Given the description of an element on the screen output the (x, y) to click on. 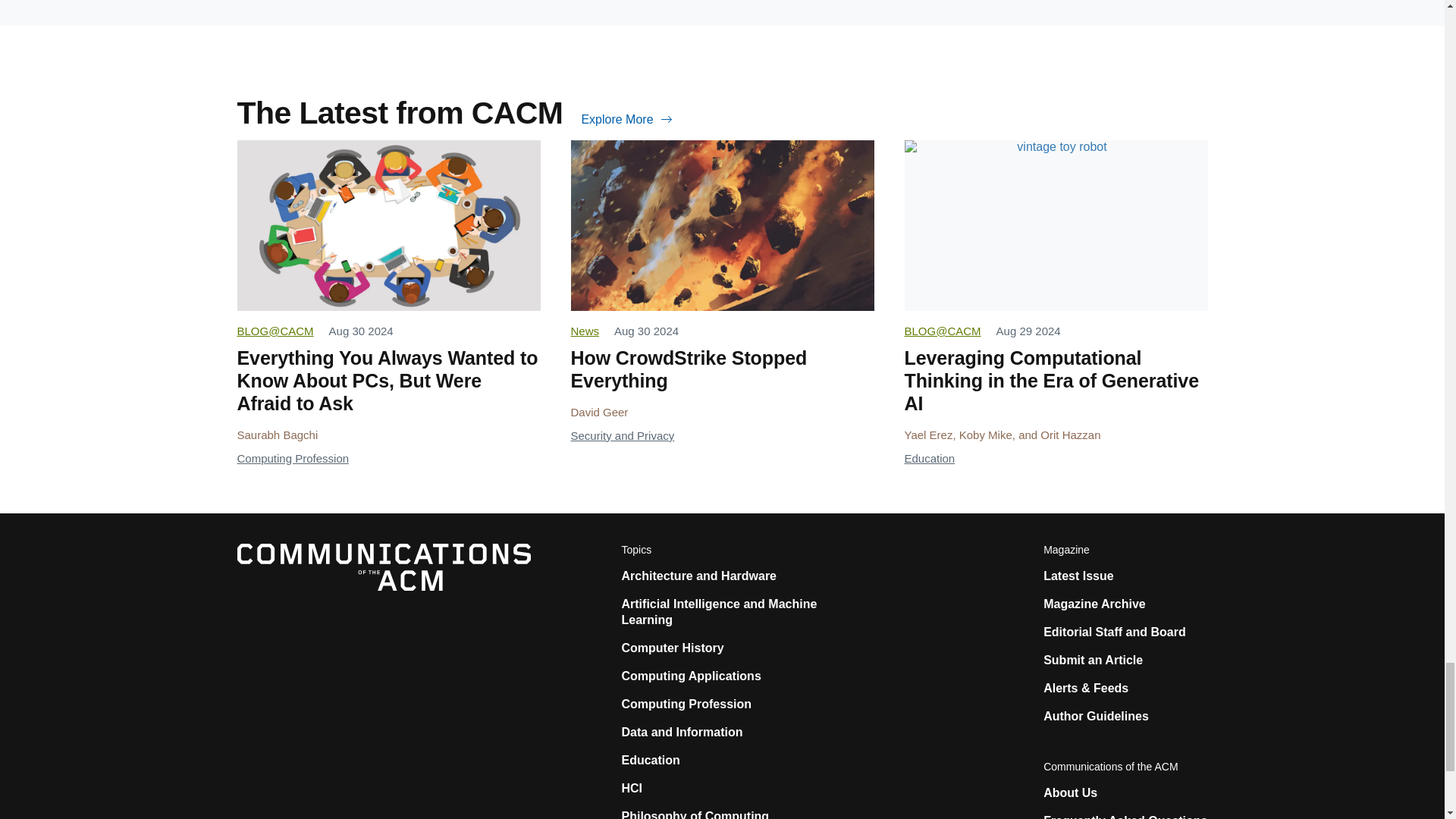
Posts by Koby Mike (985, 434)
Posts by Orit Hazzan (1070, 434)
Posts by Yael Erez (928, 434)
Posts by David Geer (598, 411)
Posts by Saurabh Bagchi (276, 434)
